Given the description of an element on the screen output the (x, y) to click on. 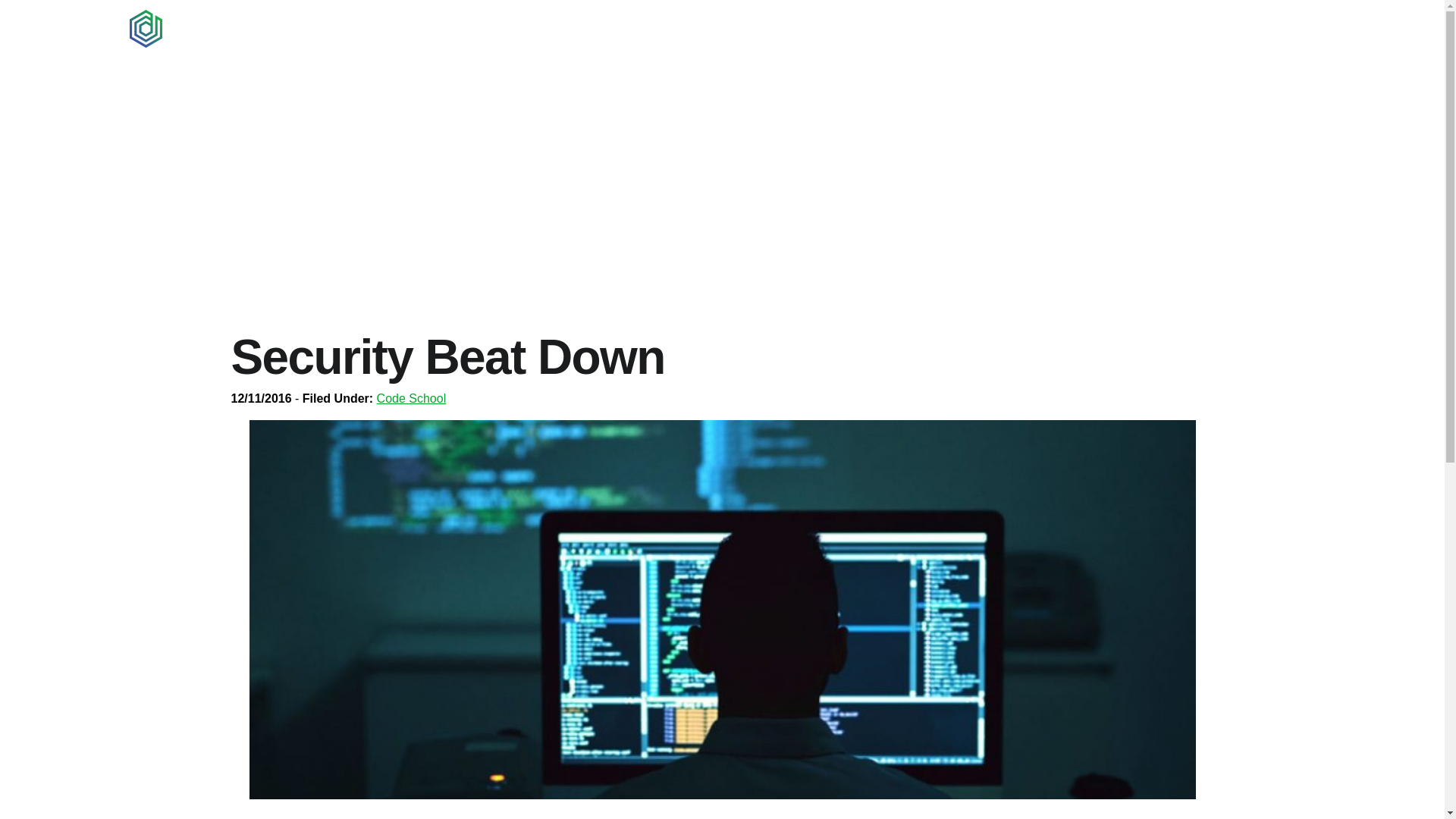
BLOG (1185, 28)
PROJECTS (1105, 28)
CONTACT (1262, 28)
Code School (411, 398)
ABOUT (1020, 28)
